Given the description of an element on the screen output the (x, y) to click on. 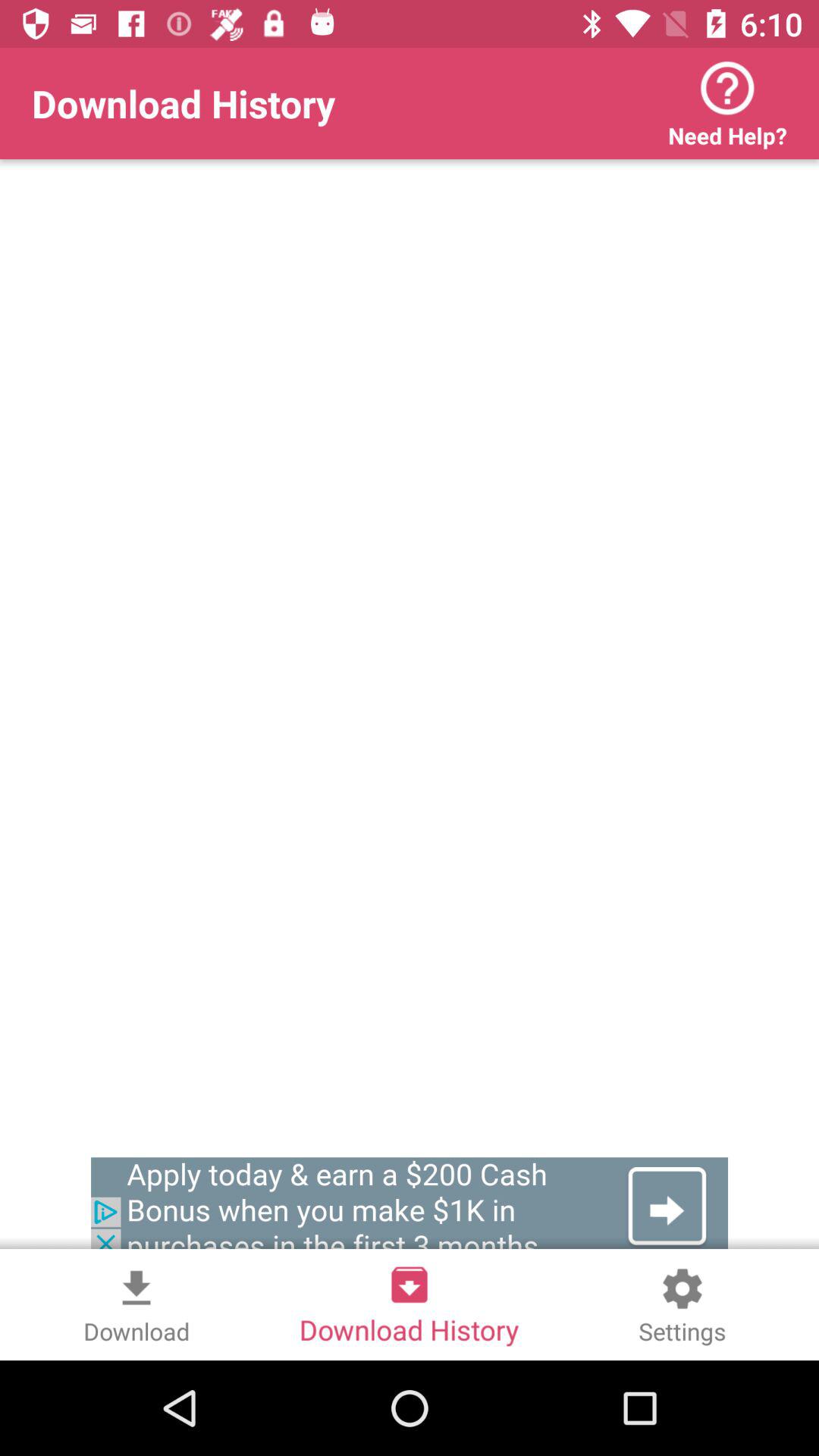
advertisement (409, 1206)
